Given the description of an element on the screen output the (x, y) to click on. 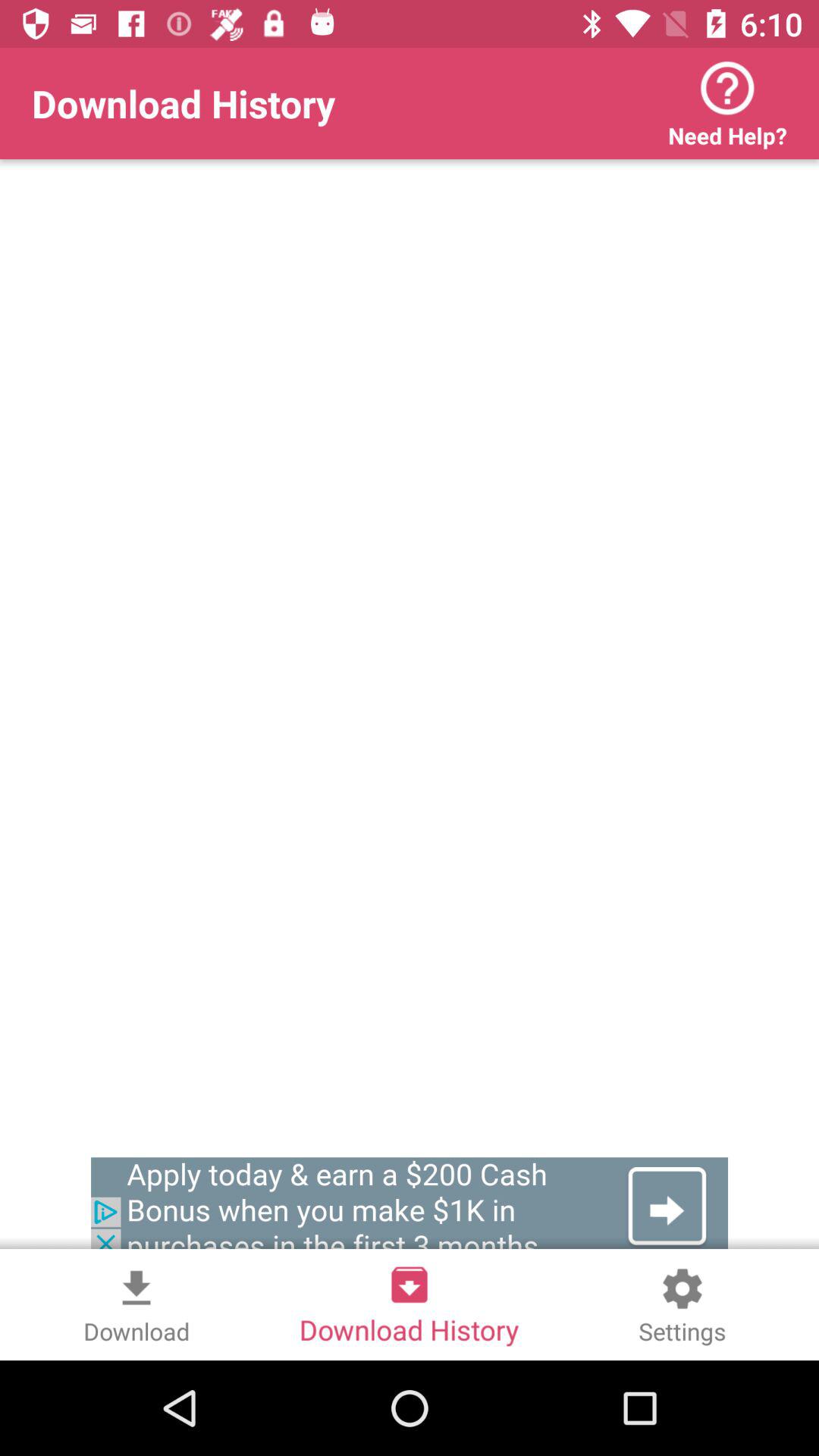
advertisement (409, 1206)
